Given the description of an element on the screen output the (x, y) to click on. 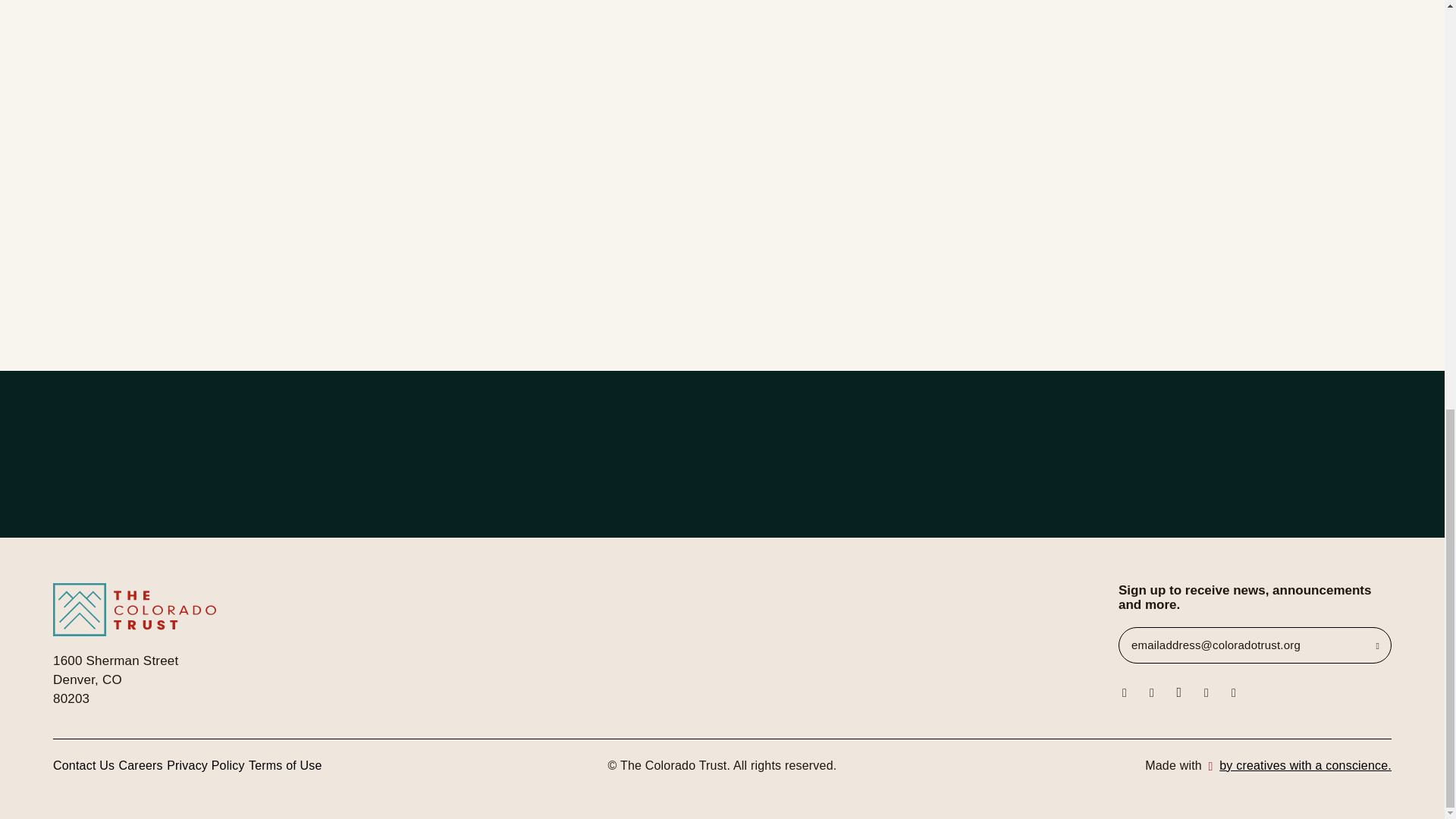
Facebook (1179, 689)
Threads (1151, 689)
Facebook (1179, 689)
LinkedIn (1205, 689)
YouTube (1233, 689)
Contact Us (83, 764)
Careers (141, 764)
LinkedIn (1205, 689)
Threads (1151, 689)
Signup (1300, 644)
